Given the description of an element on the screen output the (x, y) to click on. 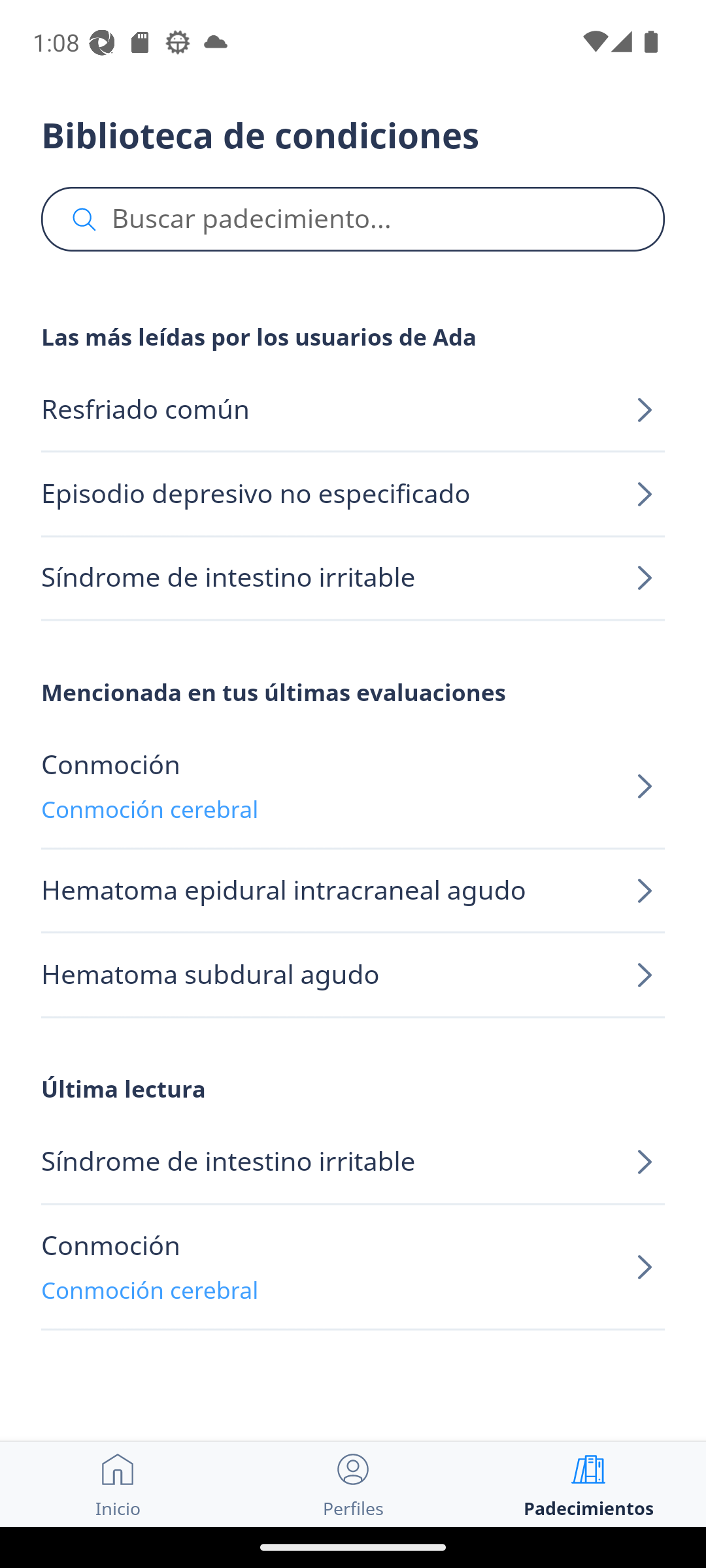
Buscar padecimiento... (352, 219)
Resfriado común (352, 409)
Episodio depresivo no especificado (352, 494)
Síndrome de intestino irritable (352, 578)
Conmoción Conmoción cerebral (352, 786)
Hematoma epidural intracraneal agudo (352, 890)
Hematoma subdural agudo (352, 974)
Síndrome de intestino irritable (352, 1162)
Conmoción Conmoción cerebral (352, 1266)
Inicio (117, 1484)
Perfiles (352, 1484)
Padecimientos (588, 1484)
